Given the description of an element on the screen output the (x, y) to click on. 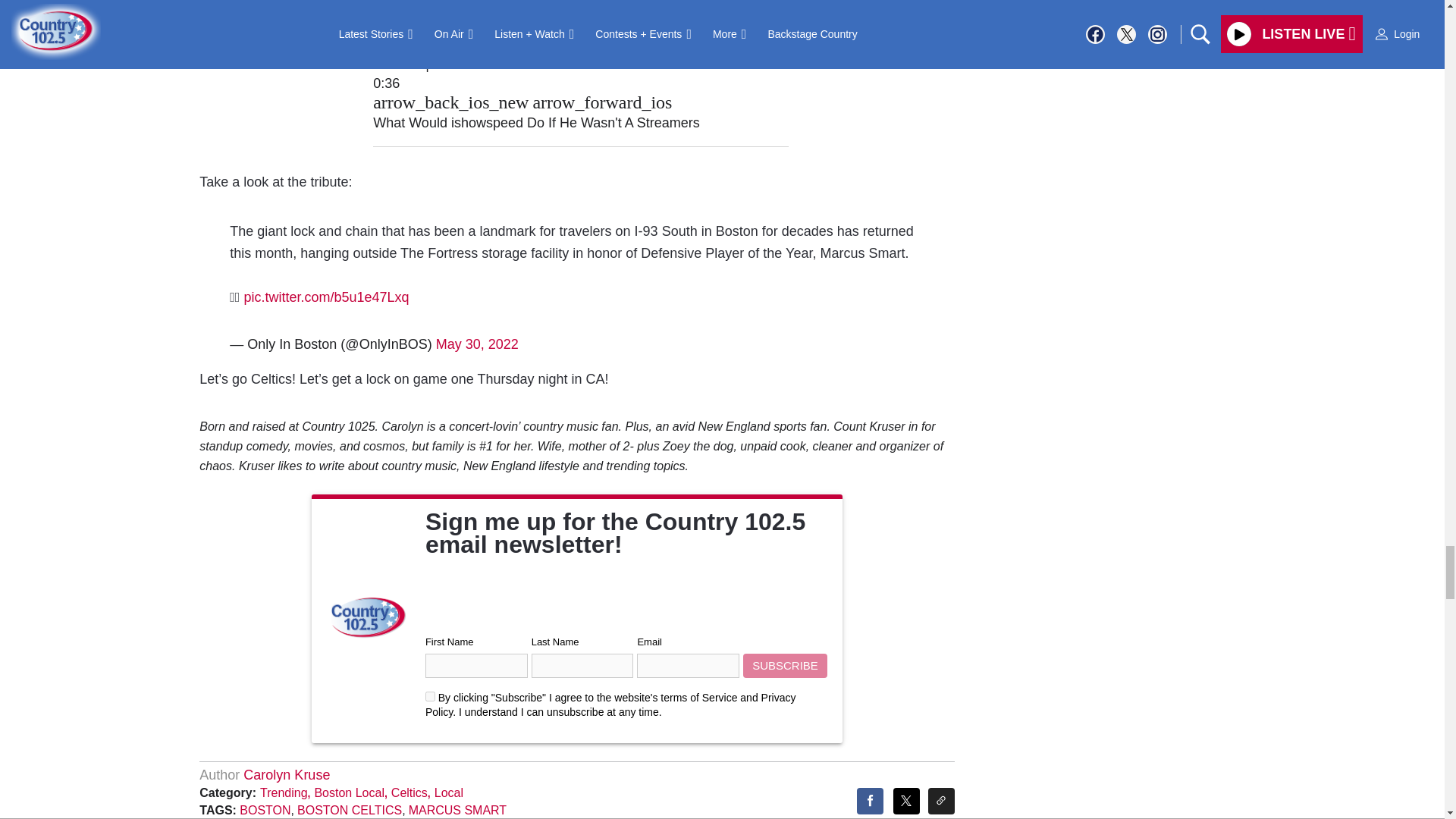
Carolyn Kruse (286, 774)
on (430, 696)
